Given the description of an element on the screen output the (x, y) to click on. 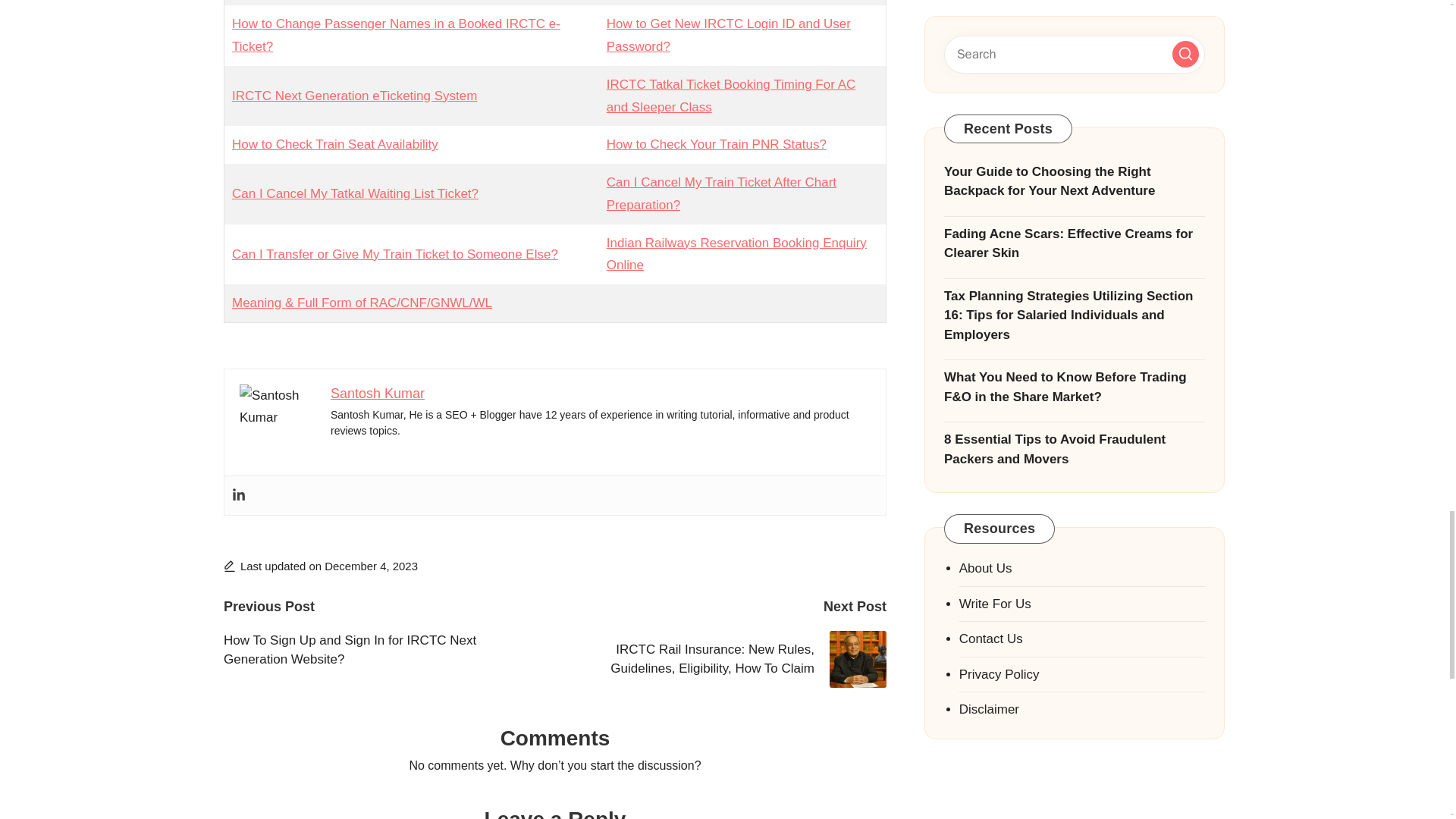
Linkedin (238, 495)
